Given the description of an element on the screen output the (x, y) to click on. 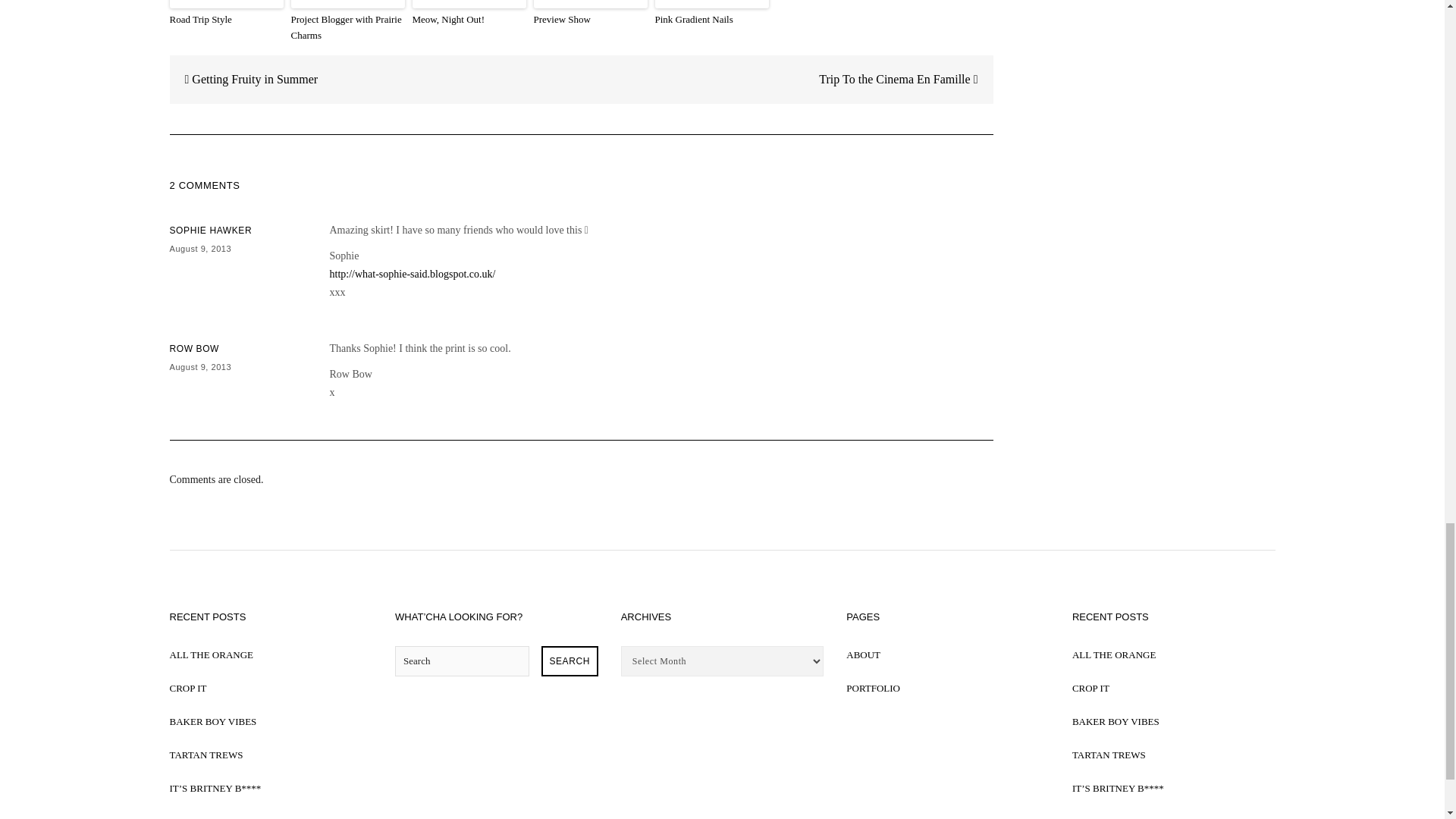
Meow, Night Out! (468, 19)
Project Blogger with Prairie Charms (347, 28)
Road Trip Style (226, 19)
